Given the description of an element on the screen output the (x, y) to click on. 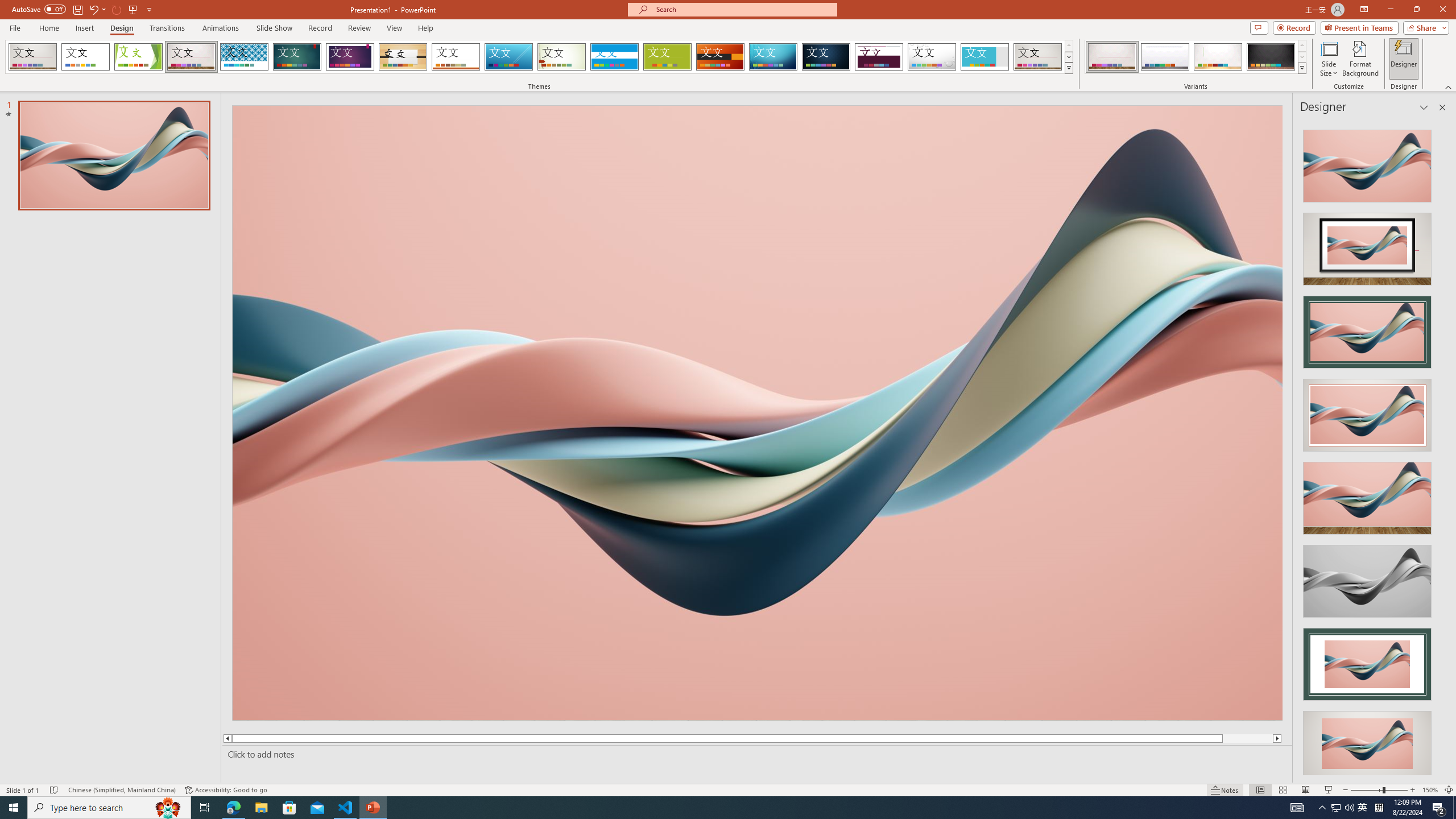
Wavy 3D art (757, 412)
Berlin (720, 56)
Gallery Variant 1 (1112, 56)
Recommended Design: Design Idea (1366, 162)
Dividend (879, 56)
Gallery Variant 4 (1270, 56)
